Given the description of an element on the screen output the (x, y) to click on. 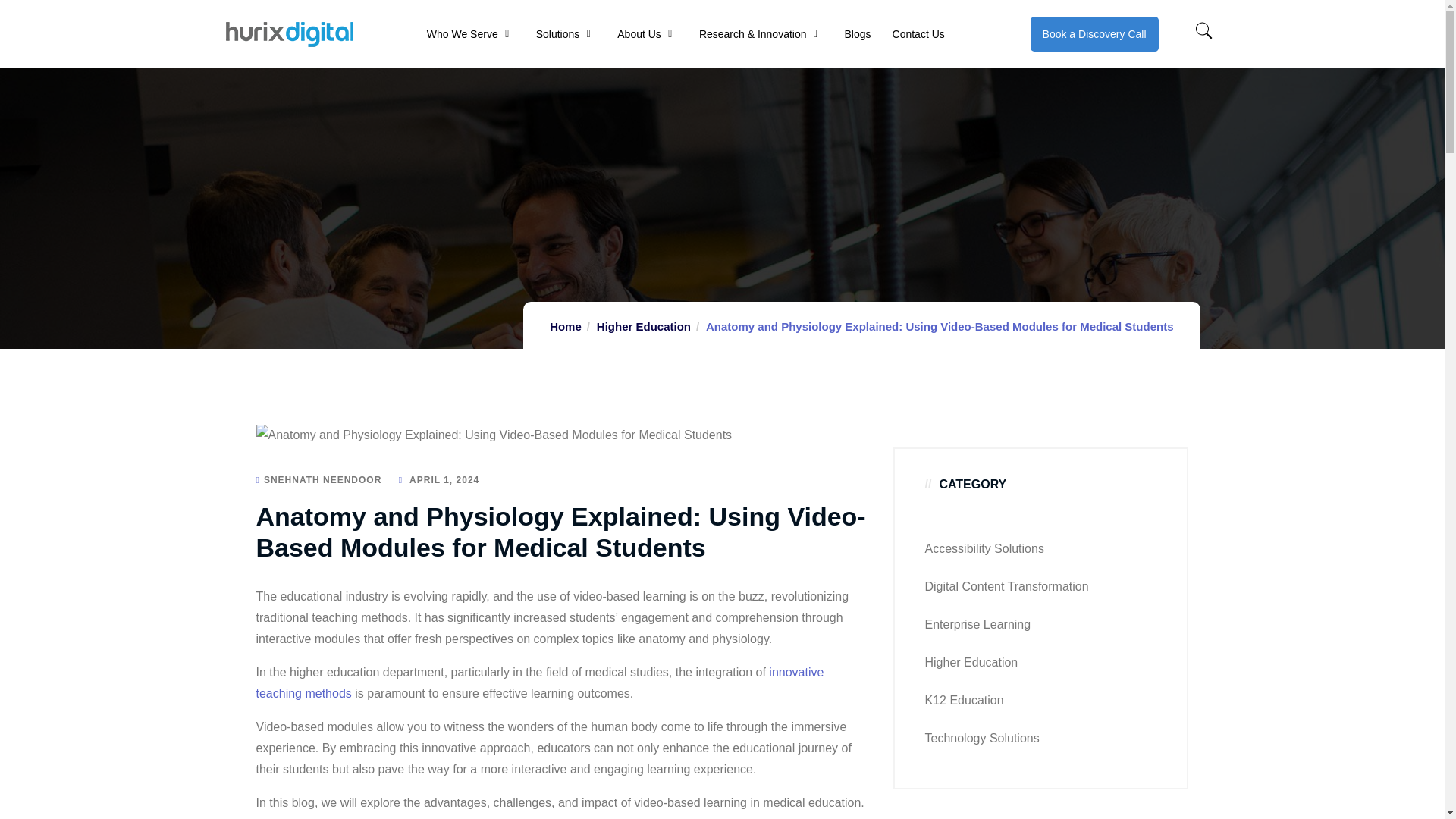
Blogs (857, 33)
Who We Serve (461, 33)
Contact Us (918, 33)
About Us (639, 33)
Solutions (557, 33)
